Given the description of an element on the screen output the (x, y) to click on. 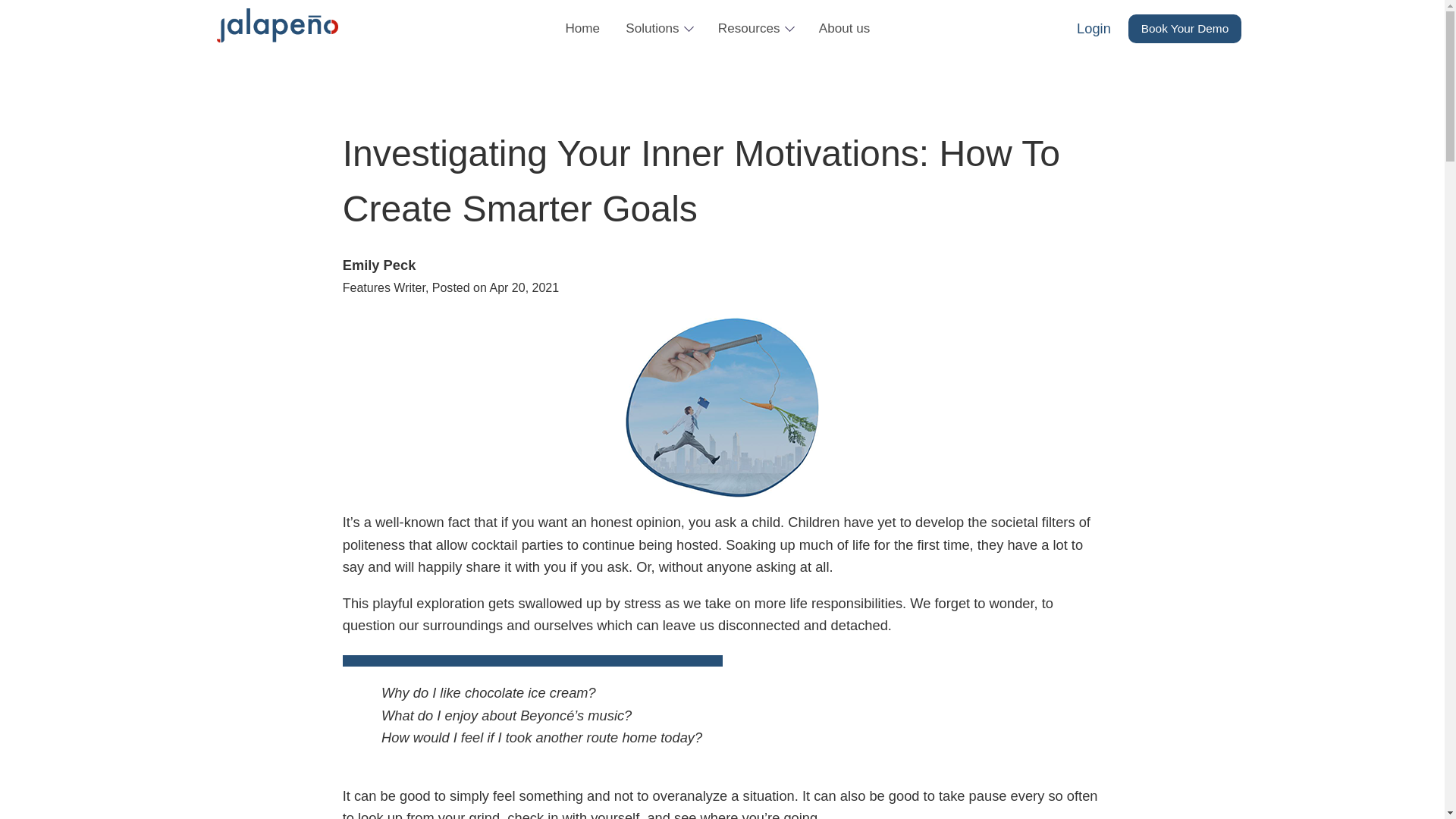
Home (581, 28)
Resources (755, 28)
Login (1093, 28)
Book Your Demo (1184, 29)
Solutions (658, 28)
About us (844, 28)
